Given the description of an element on the screen output the (x, y) to click on. 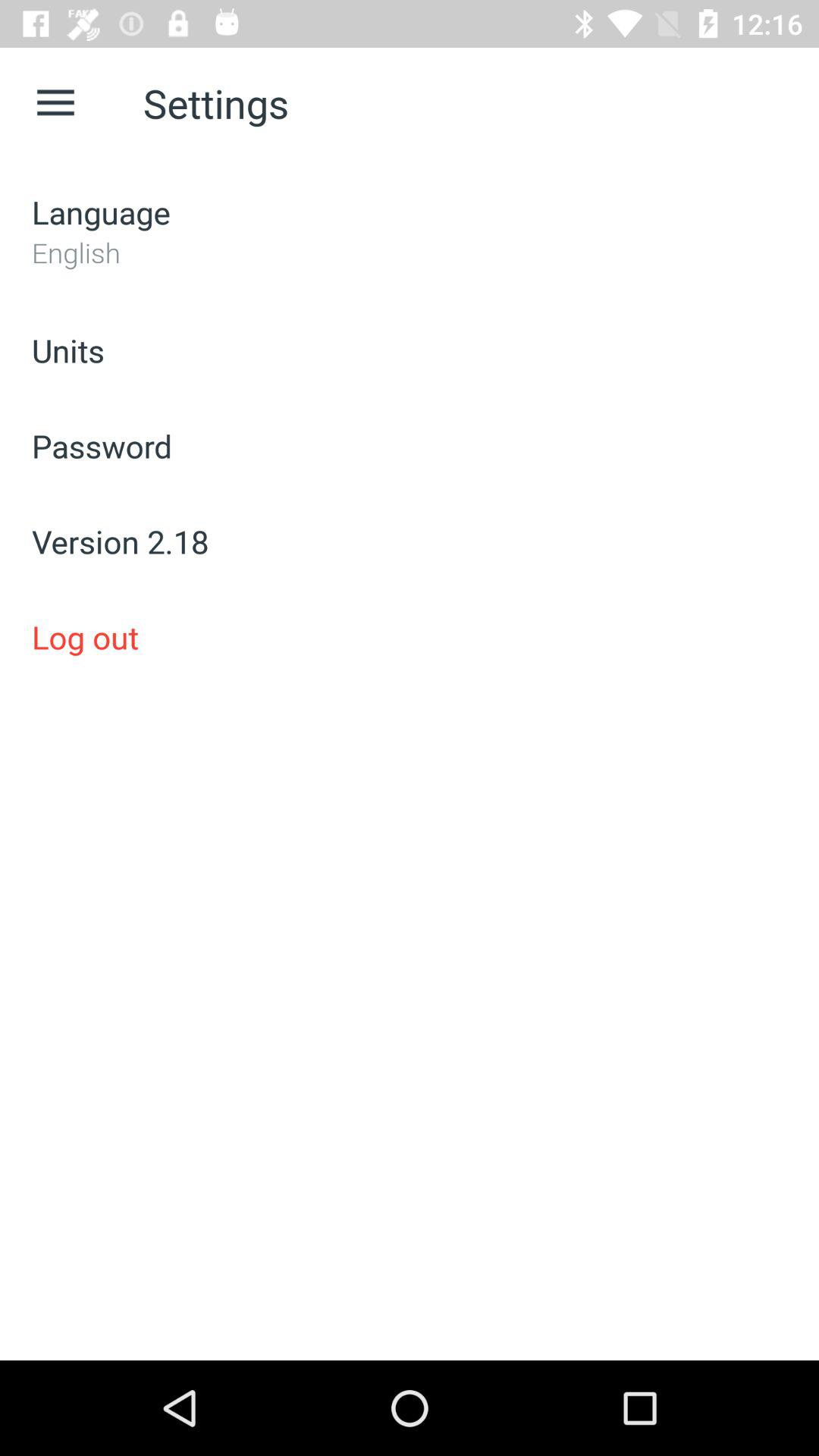
choose item below the english icon (409, 350)
